Given the description of an element on the screen output the (x, y) to click on. 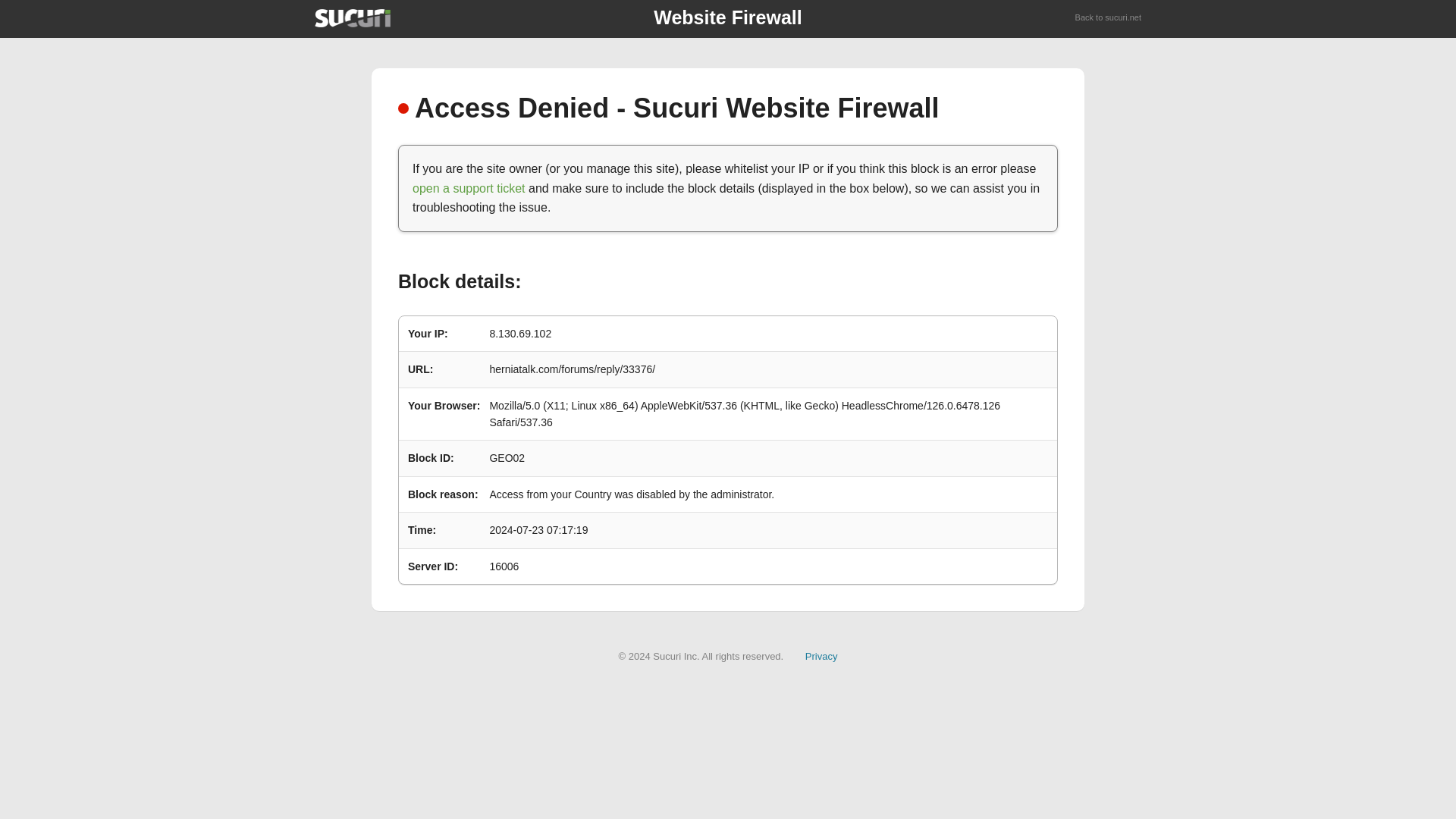
Back to sucuri.net (1108, 18)
open a support ticket (468, 187)
Privacy (821, 655)
